Given the description of an element on the screen output the (x, y) to click on. 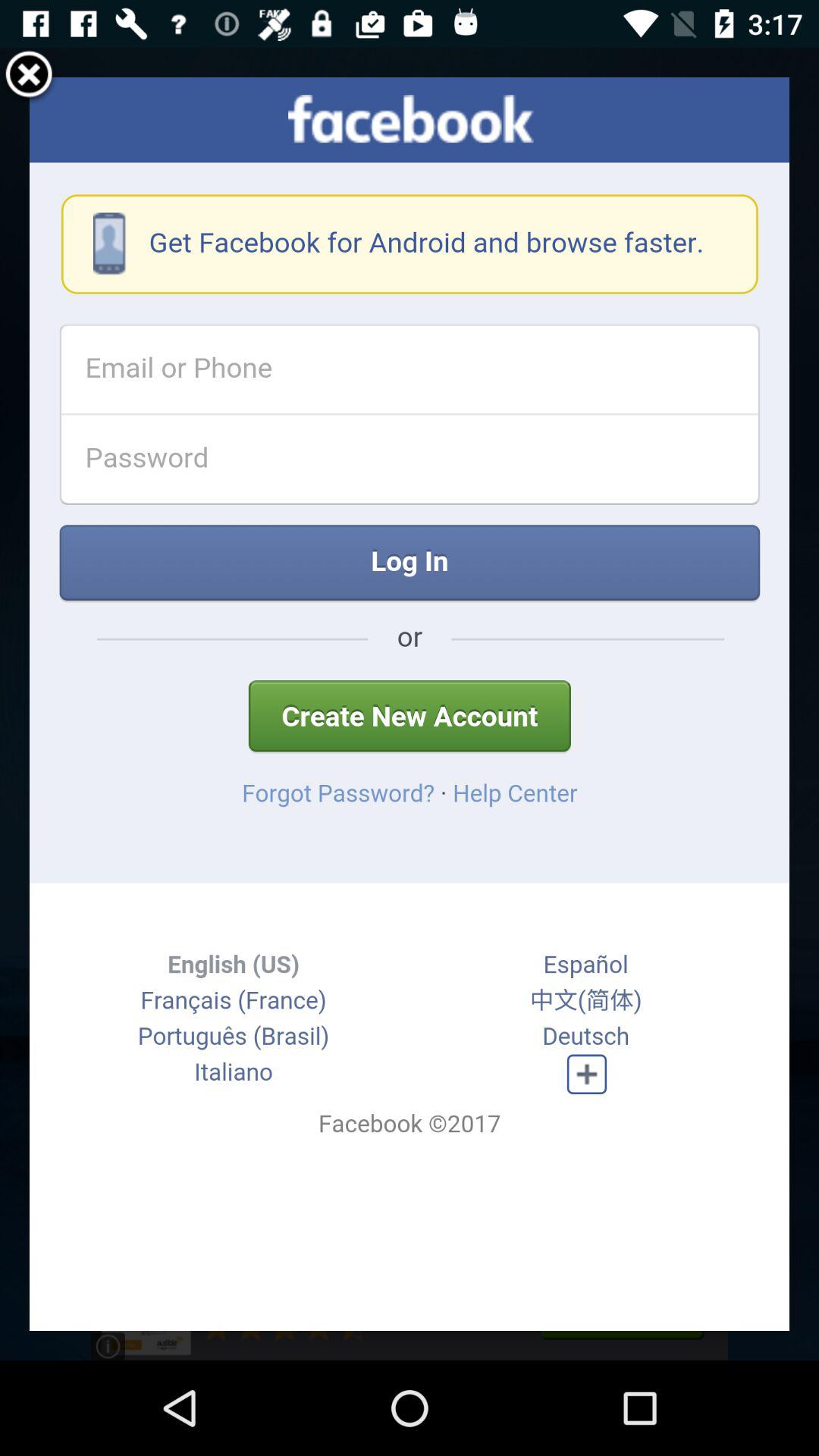
close tab (29, 76)
